Given the description of an element on the screen output the (x, y) to click on. 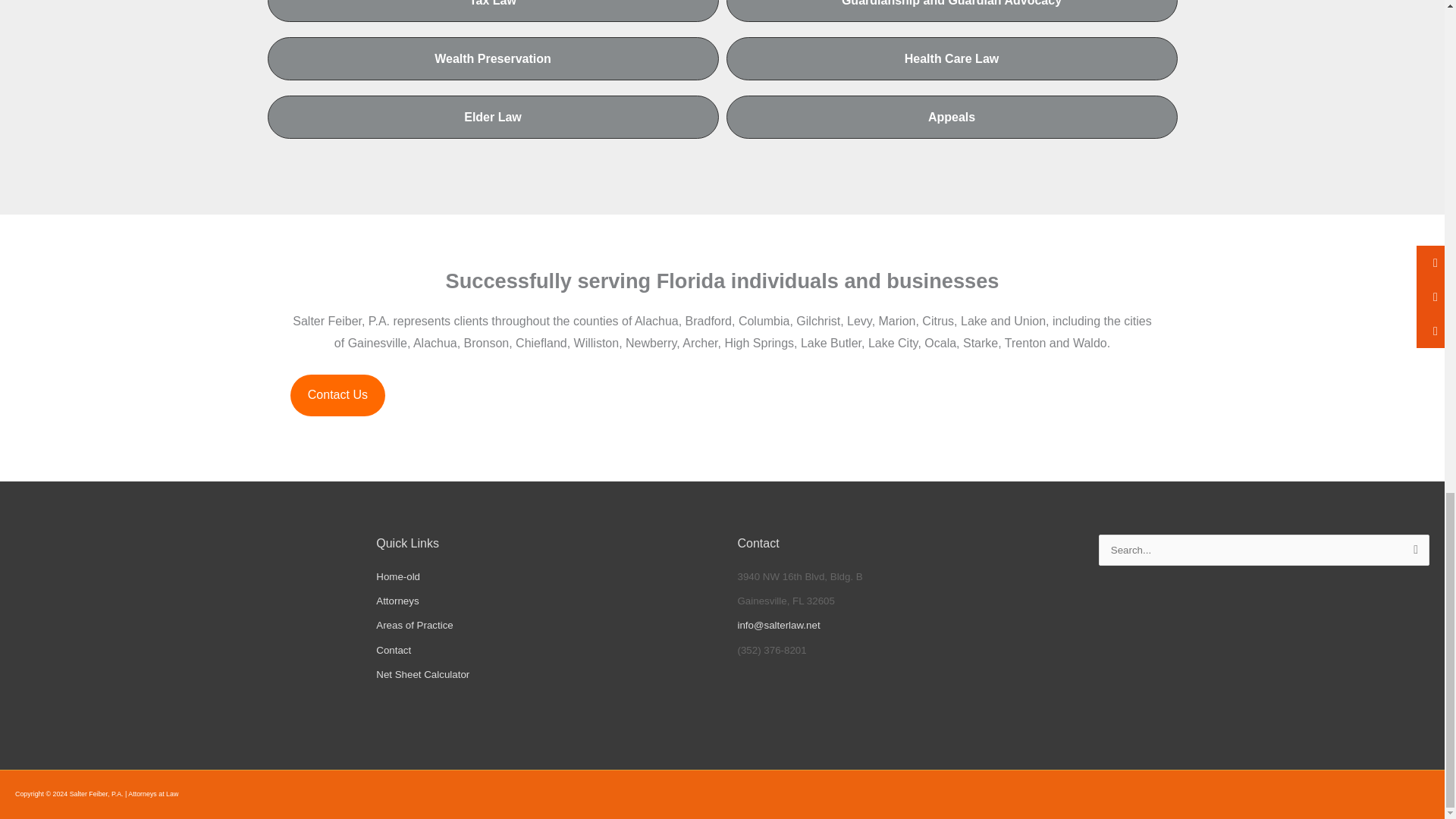
Areas of Practice (413, 624)
Health Care Law (951, 58)
Appeals (951, 116)
Contact Us (337, 395)
Attorneys (397, 600)
Contact (392, 650)
Net Sheet Calculator (421, 674)
Wealth Preservation (491, 58)
Elder Law (491, 116)
Tax Law (491, 11)
